Given the description of an element on the screen output the (x, y) to click on. 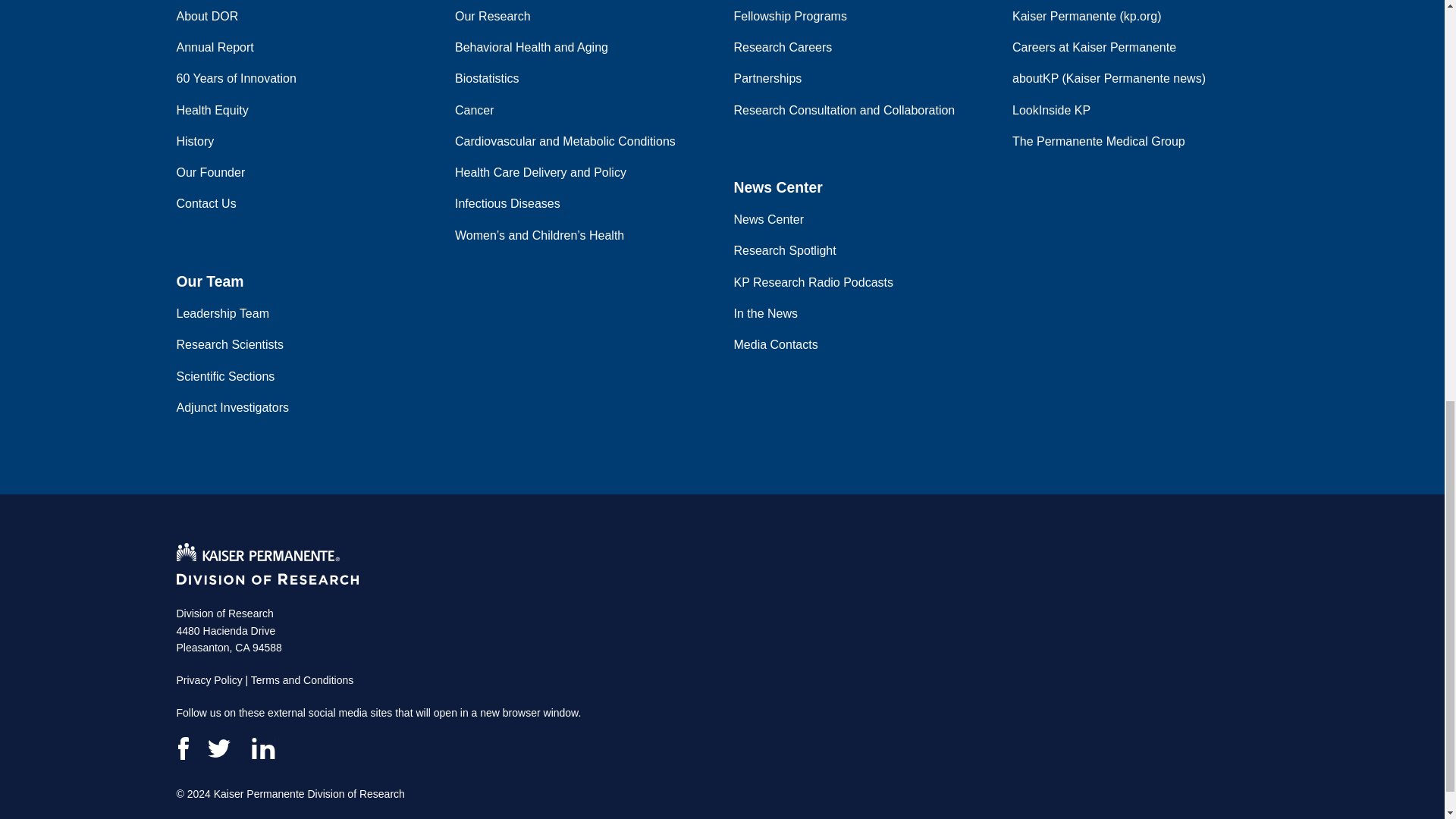
Linked In (262, 748)
Twitter (219, 748)
